Given the description of an element on the screen output the (x, y) to click on. 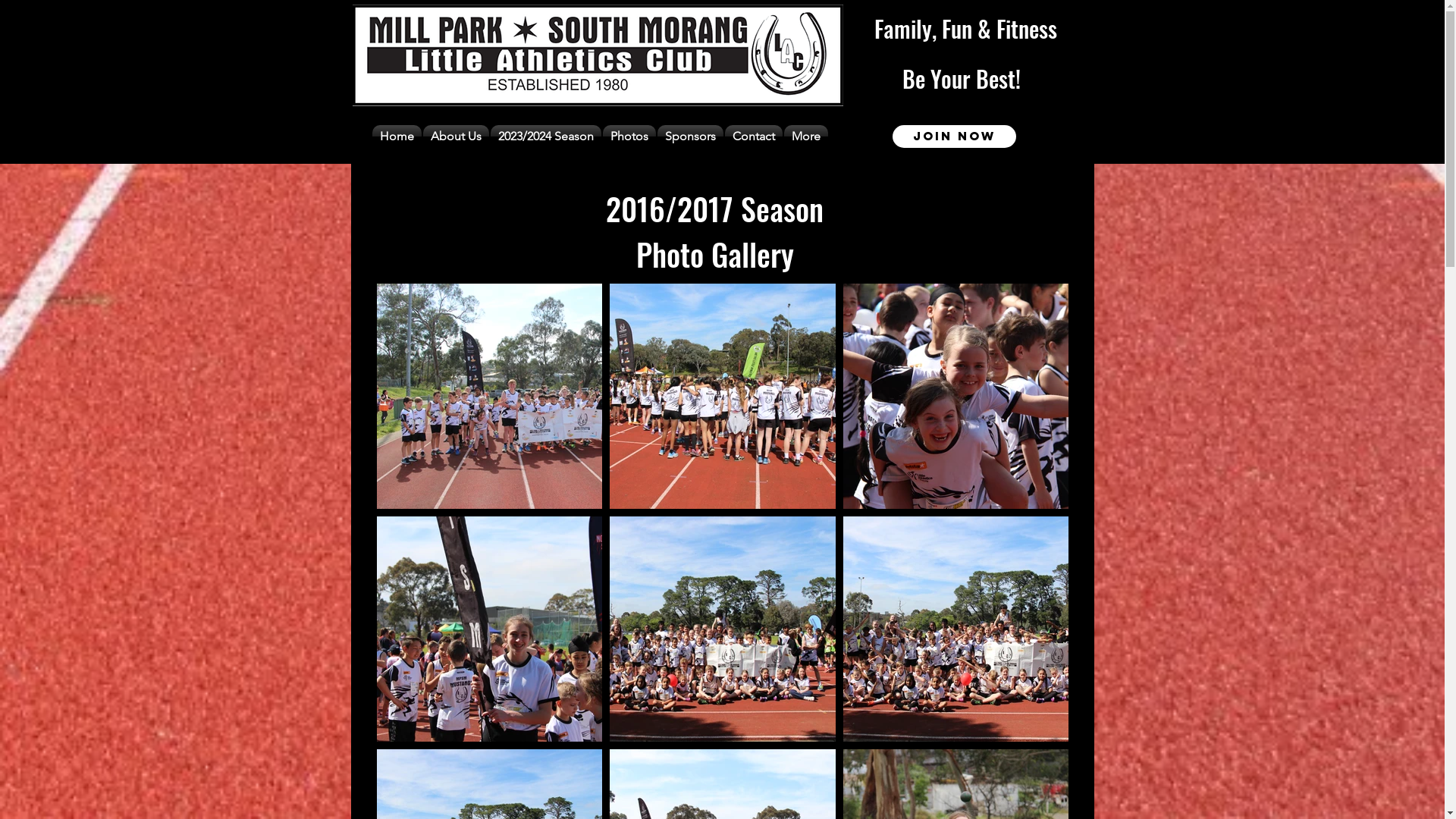
JOIN NOW Element type: text (953, 136)
About Us Element type: text (455, 136)
Contact Element type: text (752, 136)
Home Element type: text (396, 136)
Photos Element type: text (629, 136)
2023/2024 Season Element type: text (545, 136)
Sponsors Element type: text (690, 136)
